Given the description of an element on the screen output the (x, y) to click on. 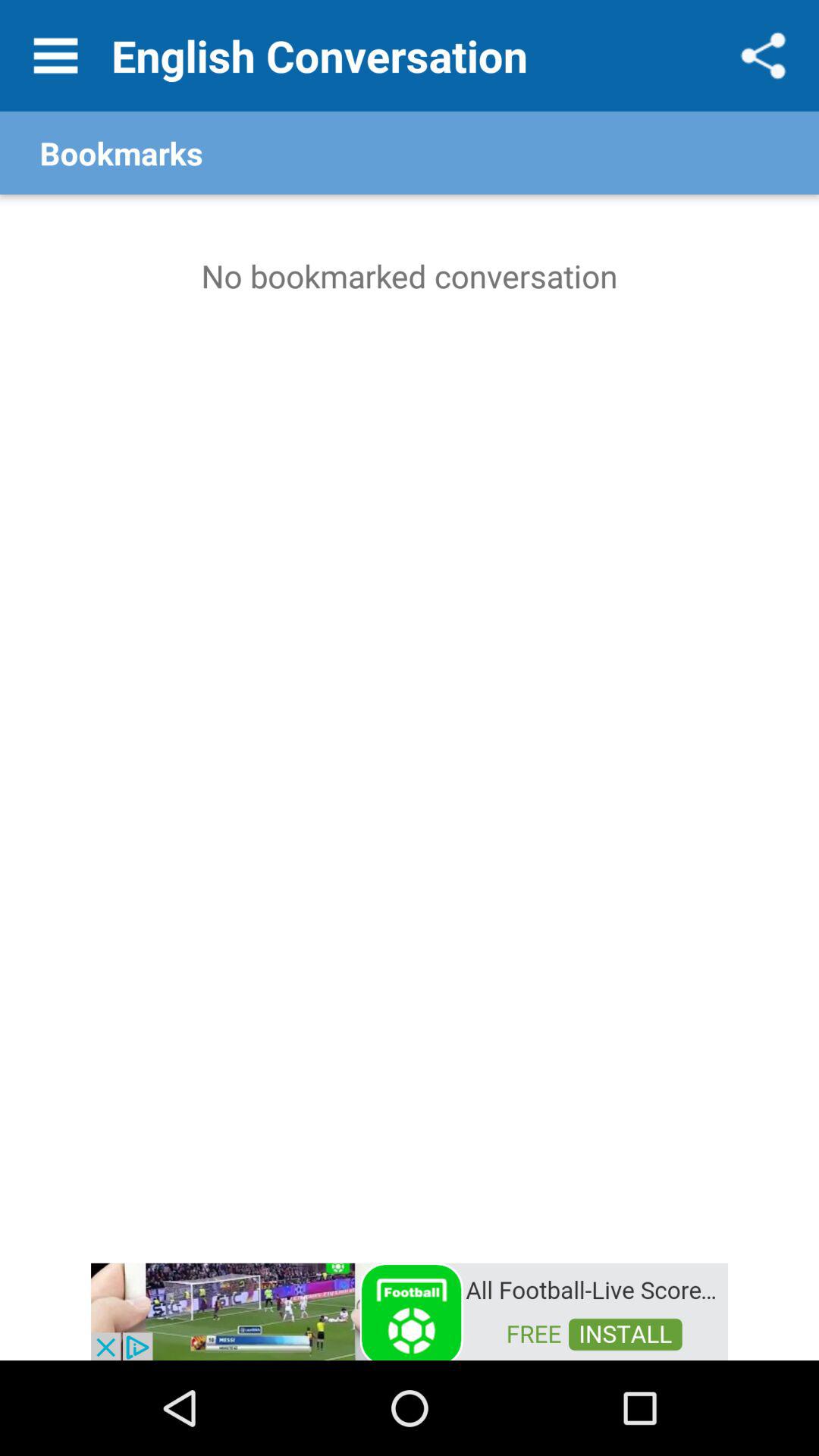
all football (409, 1310)
